Given the description of an element on the screen output the (x, y) to click on. 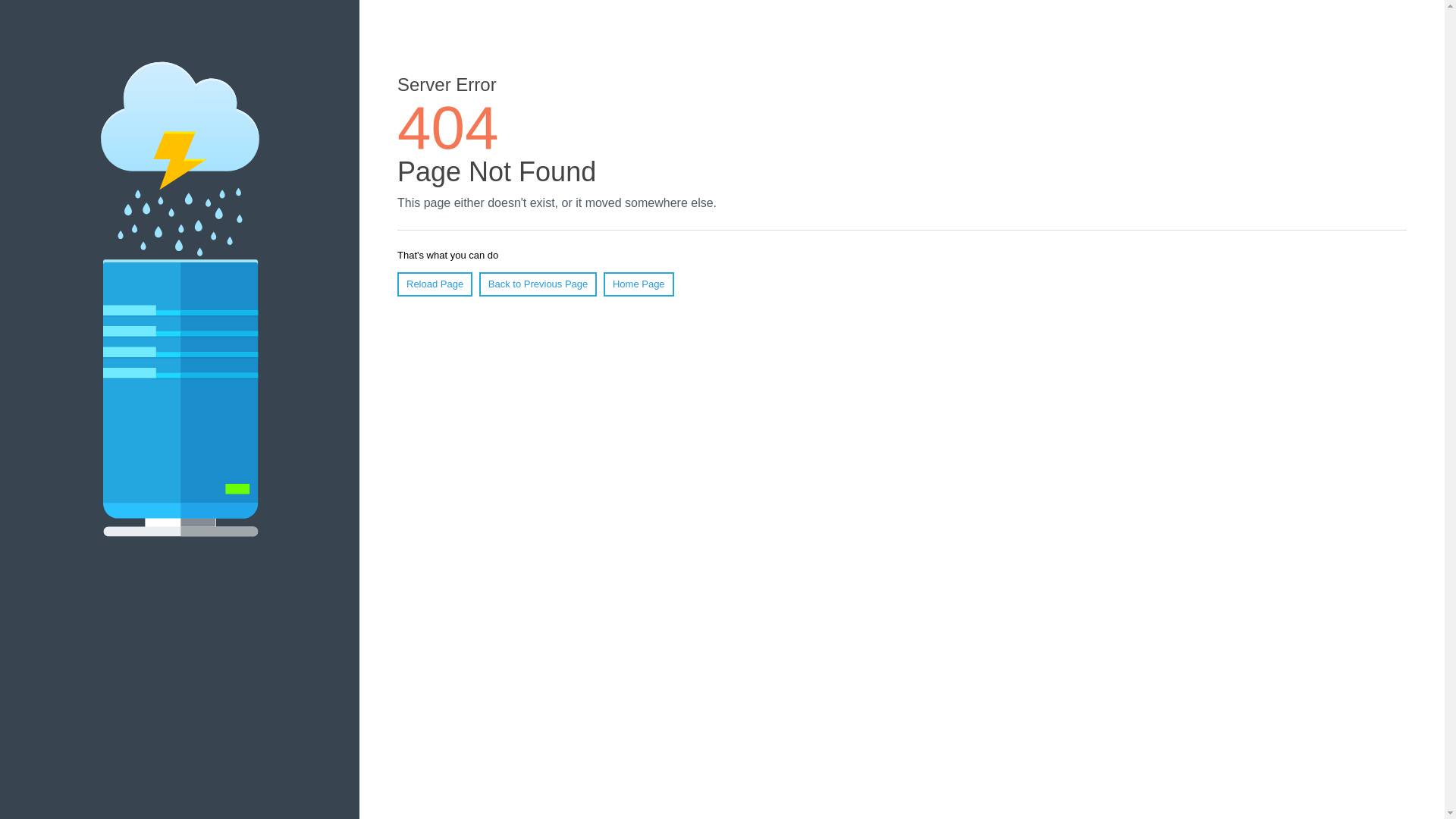
Reload Page Element type: text (434, 284)
Home Page Element type: text (638, 284)
Back to Previous Page Element type: text (538, 284)
